Given the description of an element on the screen output the (x, y) to click on. 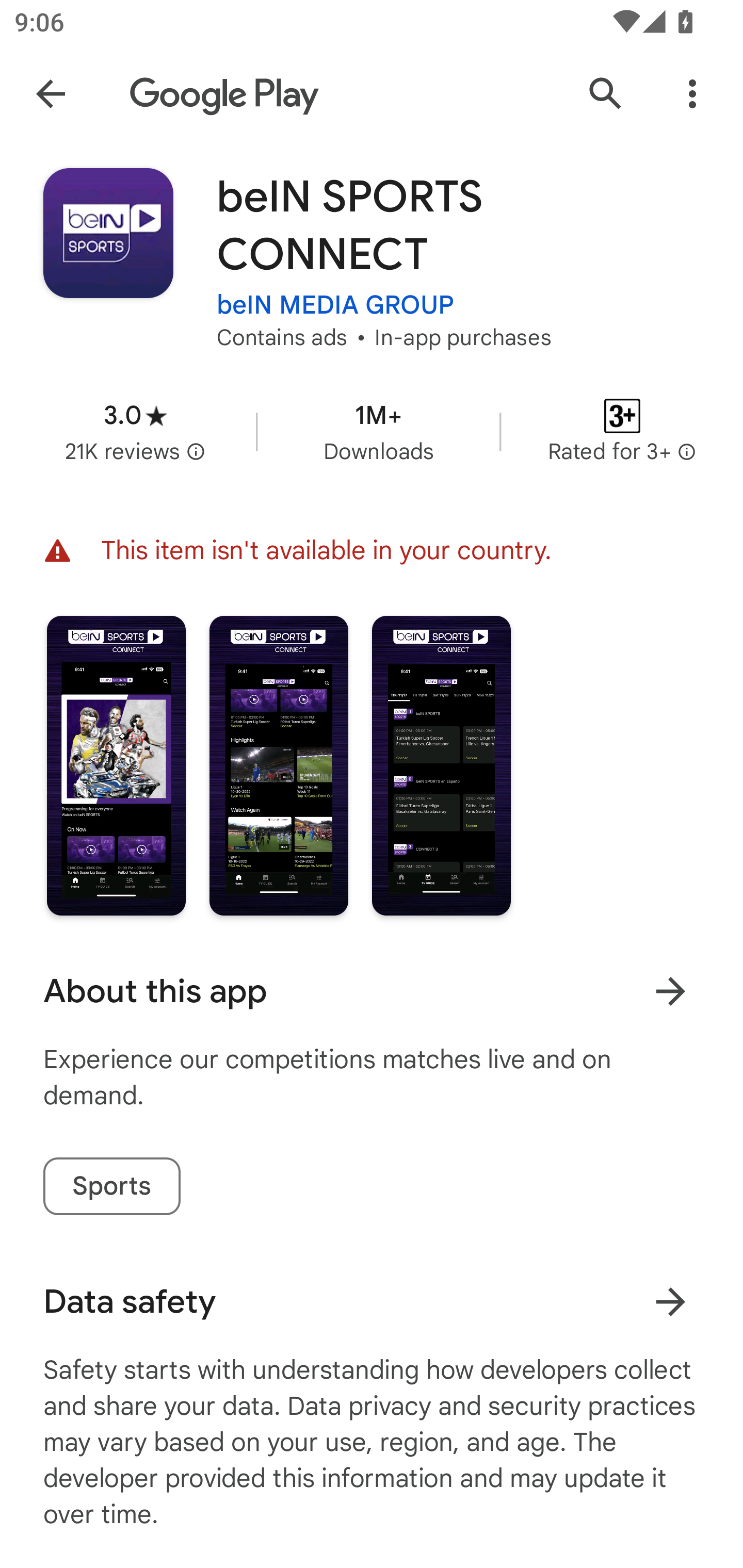
Navigate up (50, 93)
Search Google Play (605, 93)
More Options (692, 93)
beIN MEDIA GROUP (334, 304)
Average rating 3.0 stars in 21 thousand reviews (135, 431)
Content rating Rated for 3+ (622, 431)
Screenshot "1" of "3" (115, 765)
Screenshot "2" of "3" (278, 765)
Screenshot "3" of "3" (441, 765)
About this app Learn more About this app (371, 990)
Learn more About this app (670, 991)
Sports tag (111, 1186)
Data safety Learn more about data safety (371, 1301)
Learn more about data safety (670, 1302)
